Given the description of an element on the screen output the (x, y) to click on. 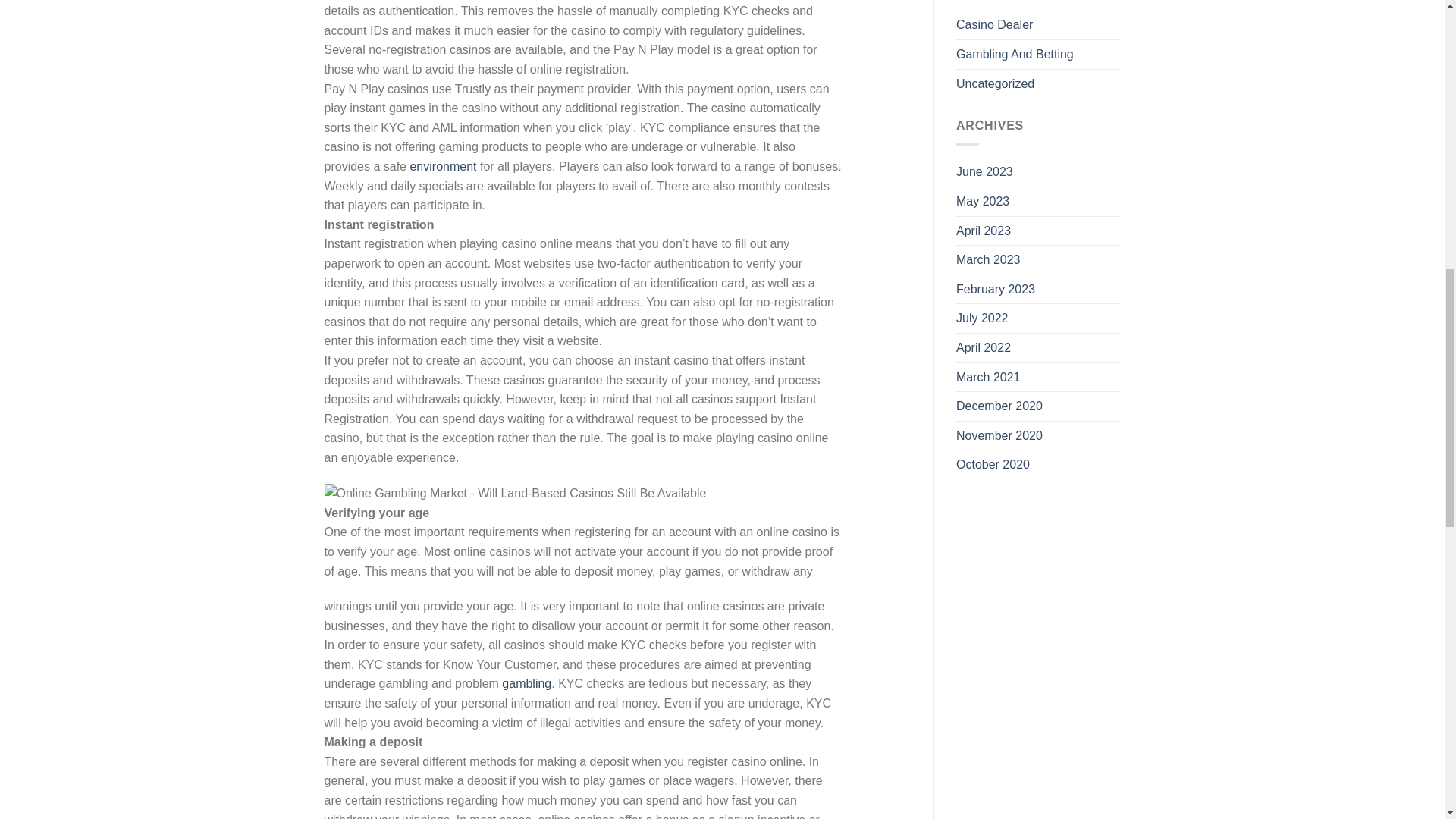
Uncategorized (994, 83)
gambling (526, 683)
June 2023 (984, 172)
environment (442, 165)
April 2023 (983, 231)
Gambling And Betting (1015, 54)
Casino Dealer (994, 24)
May 2023 (982, 201)
